Given the description of an element on the screen output the (x, y) to click on. 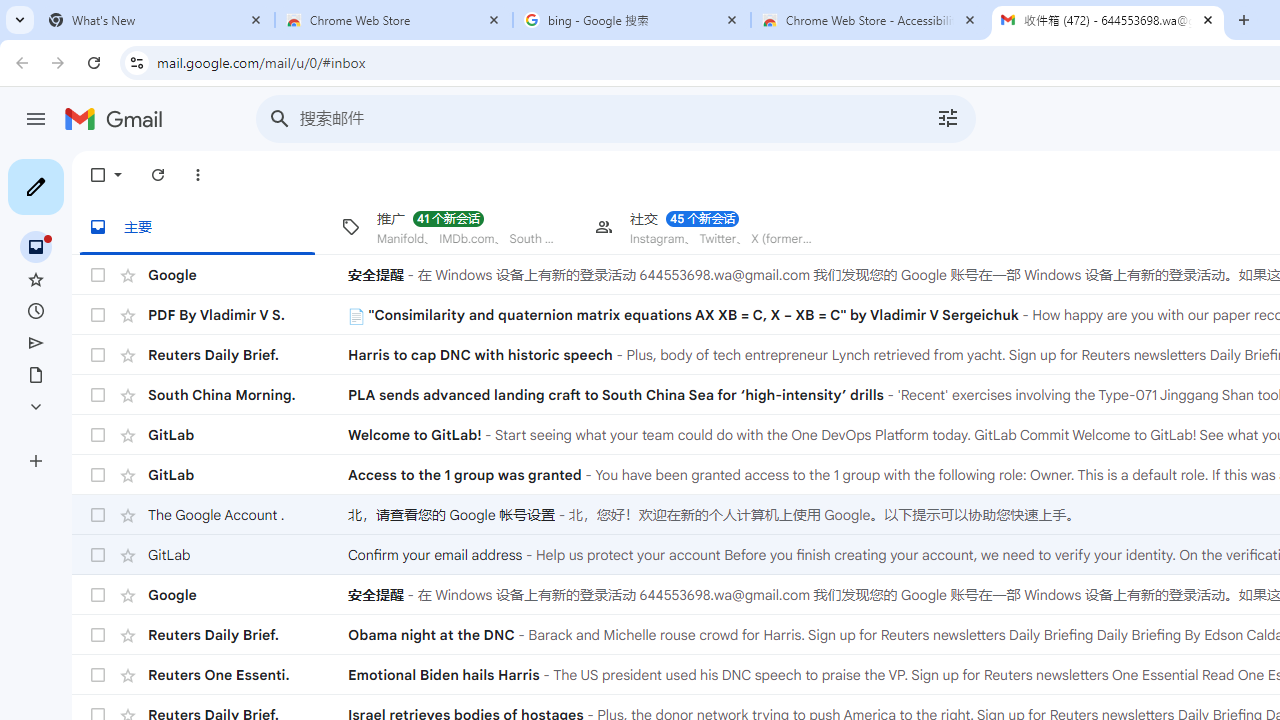
Close (1208, 19)
Reuters One Essenti. (248, 674)
South China Morning. (248, 394)
Gmail (118, 121)
GitLab (248, 555)
New Tab (1244, 20)
